Given the description of an element on the screen output the (x, y) to click on. 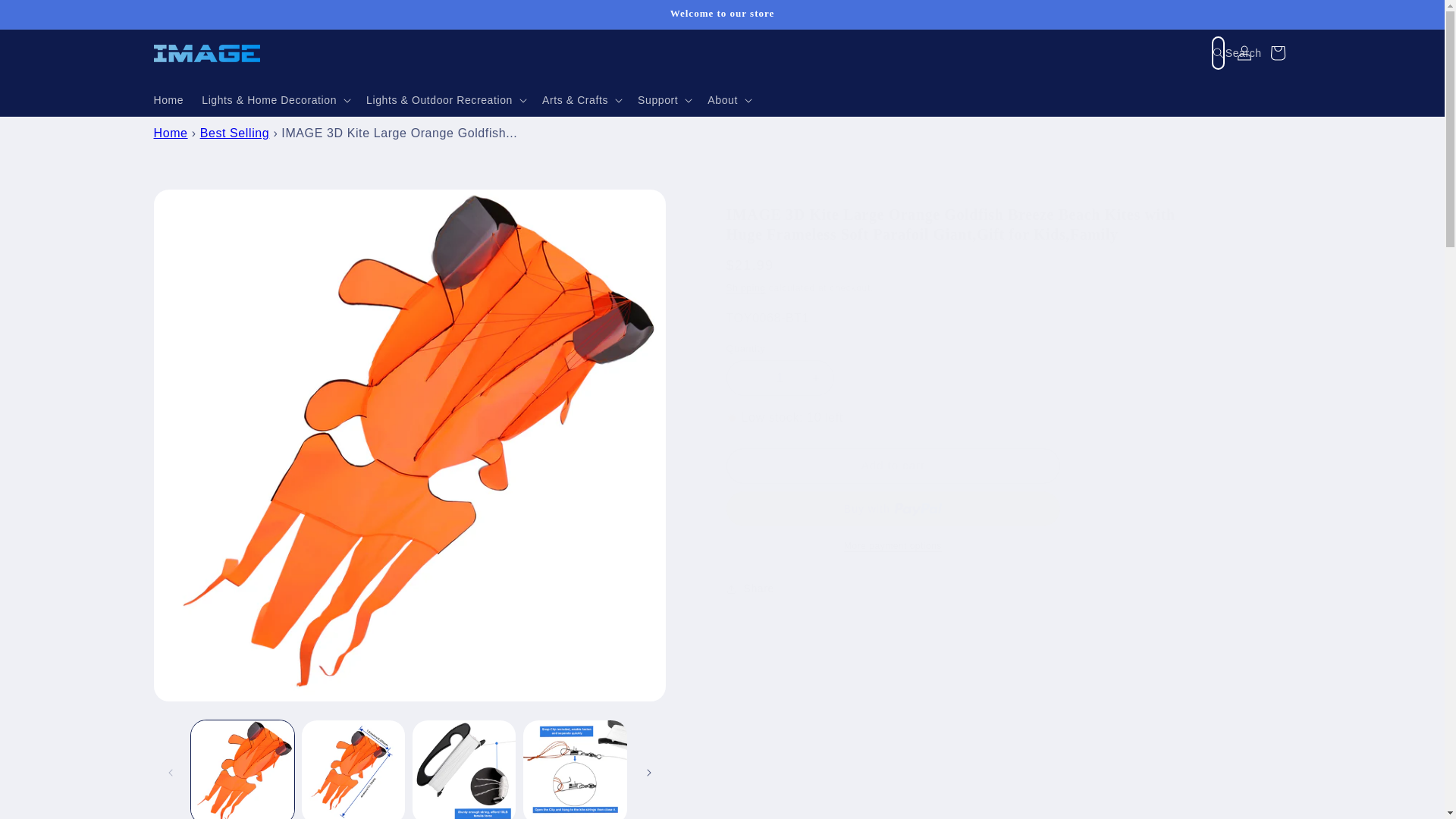
1 (780, 377)
Home (169, 132)
Skip to content (45, 17)
Home (168, 99)
